Given the description of an element on the screen output the (x, y) to click on. 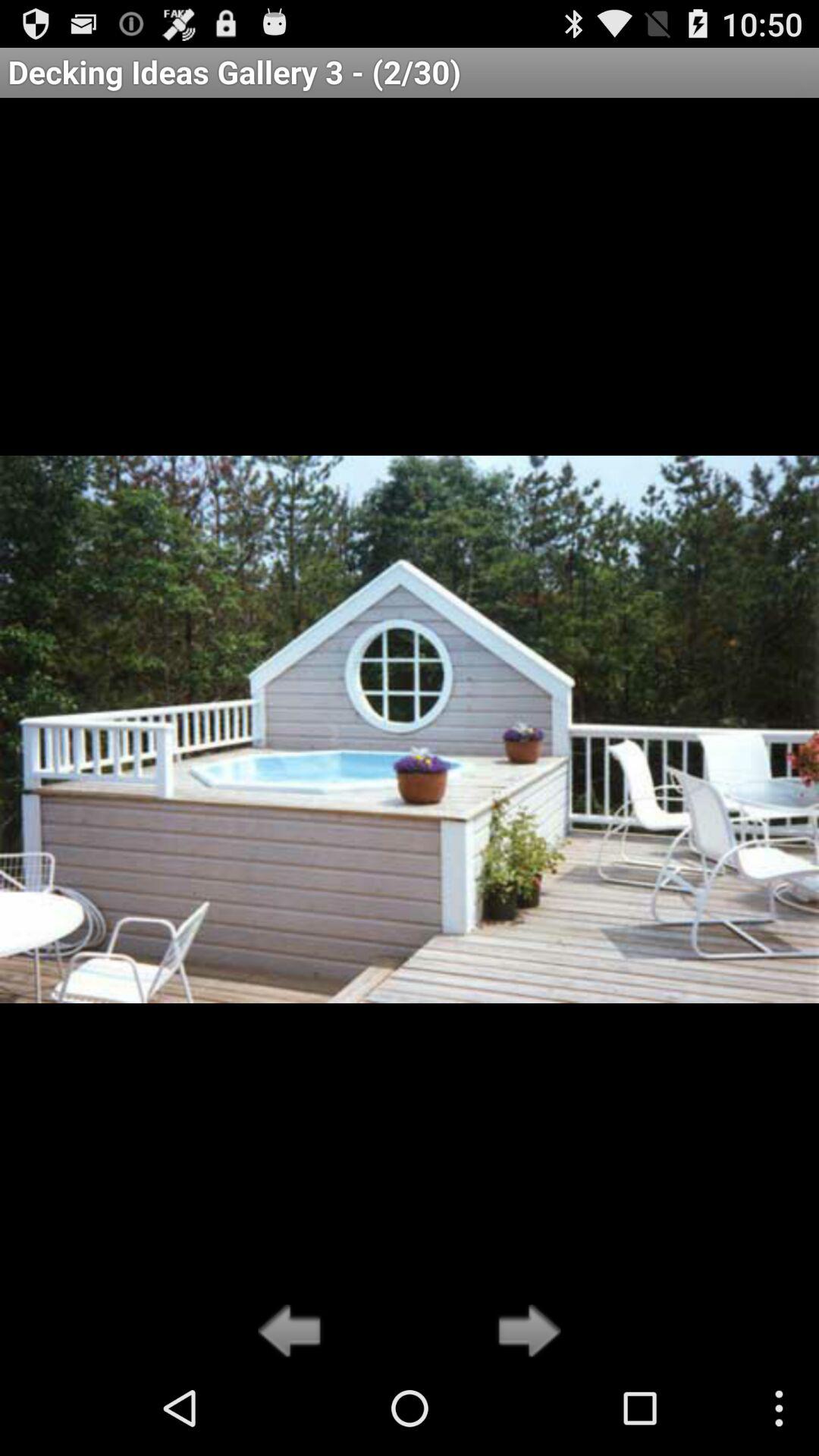
move forward to the next image (524, 1332)
